Given the description of an element on the screen output the (x, y) to click on. 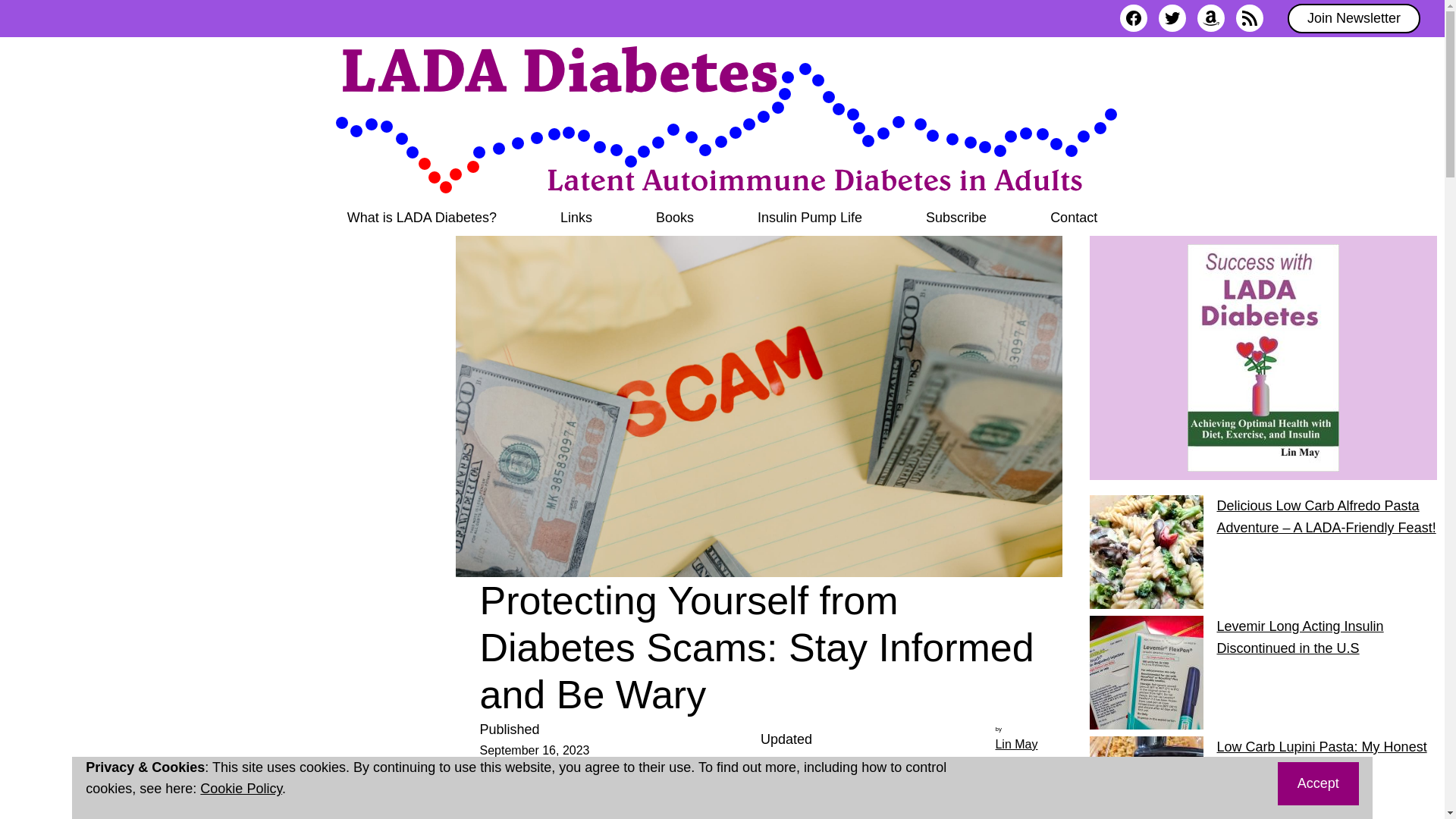
Levemir Long Acting Insulin Discontinued in the U.S (1299, 637)
Low Carb Lupini Pasta: My Honest Taste Test (1320, 757)
Subscribe (956, 217)
Amazon (1210, 17)
Insulin Pump Life (810, 217)
Twitter (1172, 17)
Contact (1073, 217)
What is LADA Diabetes? (422, 217)
RSS Feed (1249, 17)
Books (674, 217)
Join Newsletter (1354, 18)
Facebook (1133, 17)
Read full disclaimer. (757, 795)
Lin May (1015, 744)
Links (576, 217)
